Given the description of an element on the screen output the (x, y) to click on. 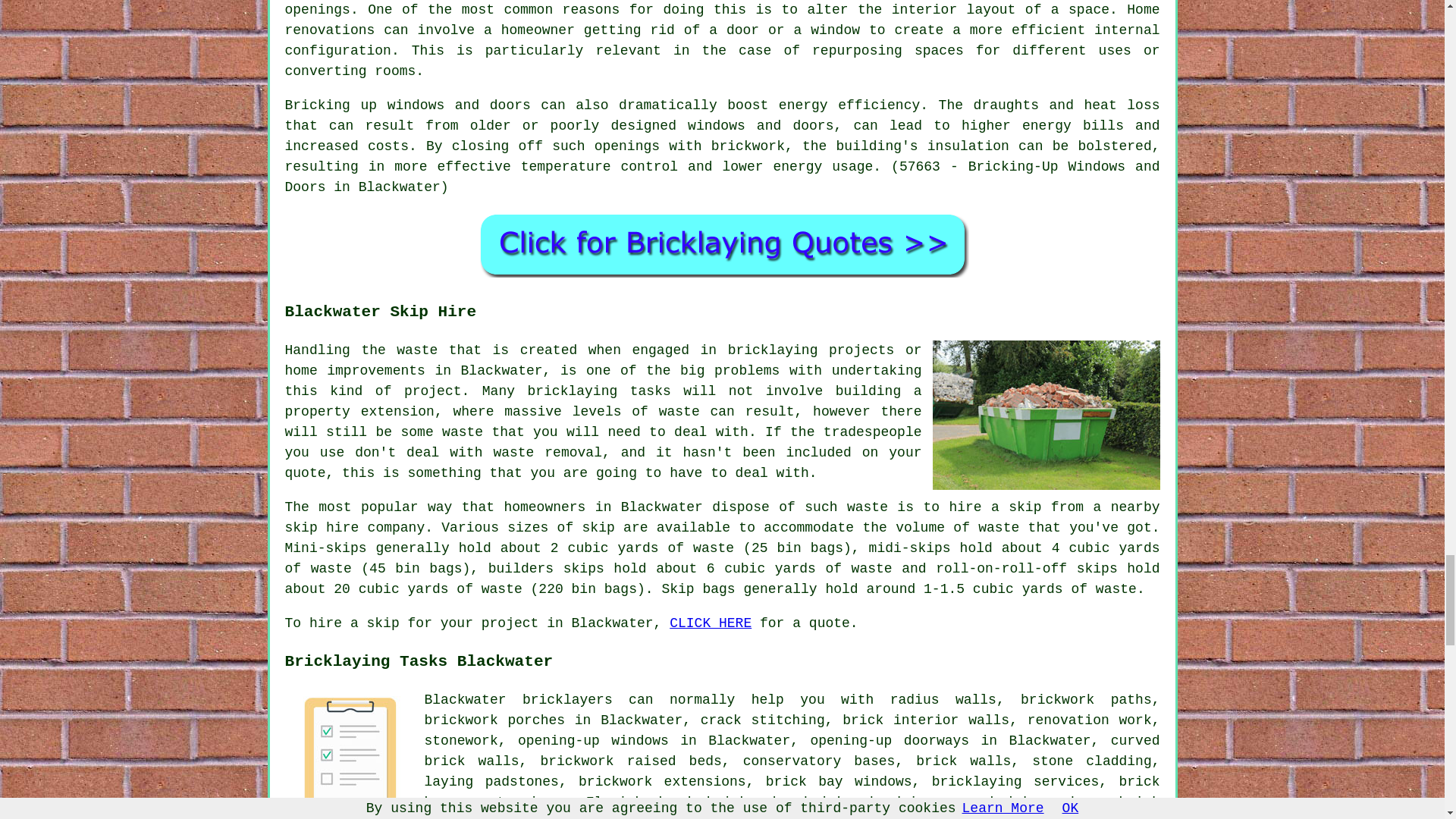
Click For Bricklaying in Blackwater (722, 244)
Skip Hire Blackwater (1046, 414)
